Given the description of an element on the screen output the (x, y) to click on. 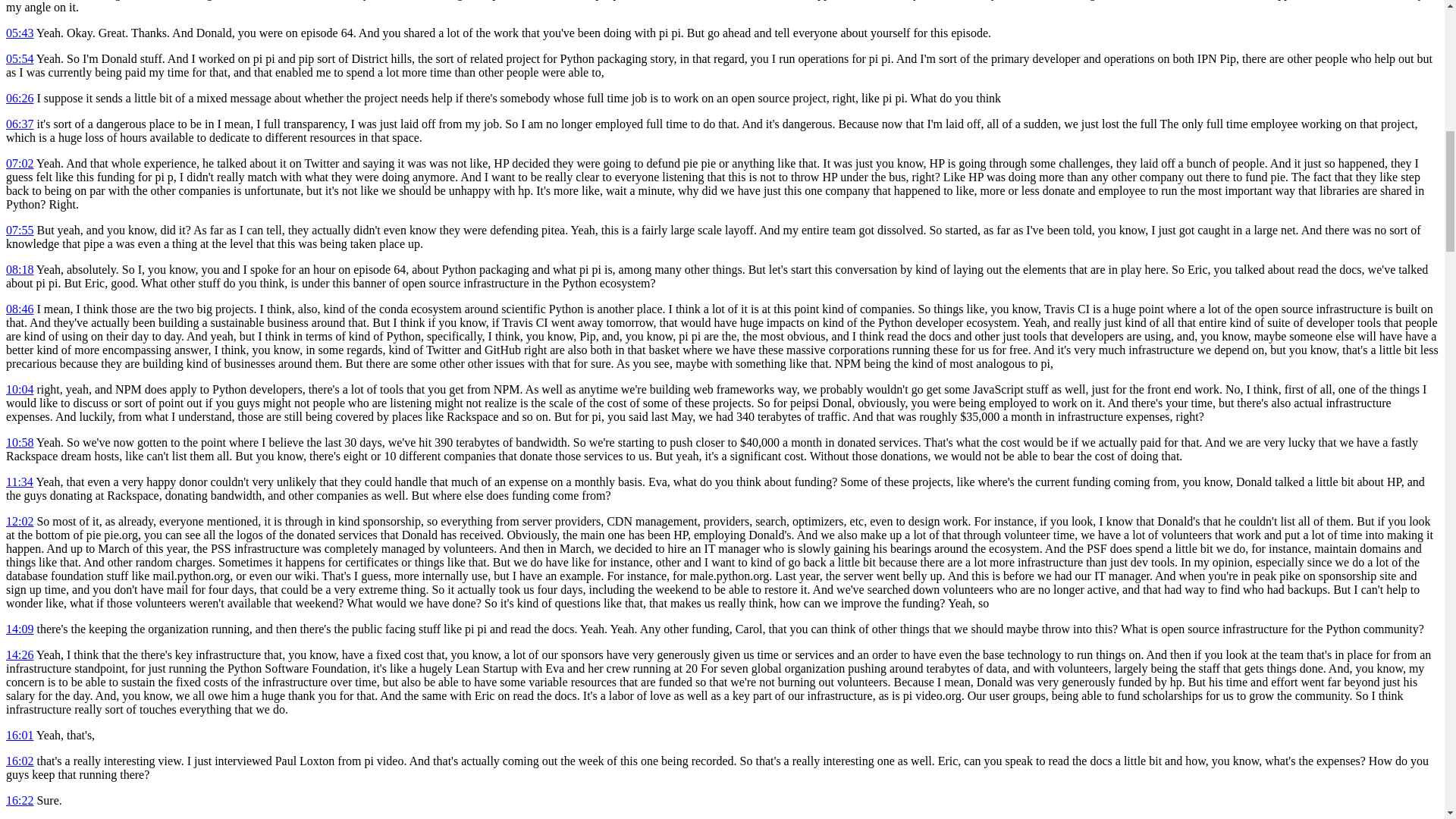
05:43 (19, 32)
05:54 (19, 58)
